Given the description of an element on the screen output the (x, y) to click on. 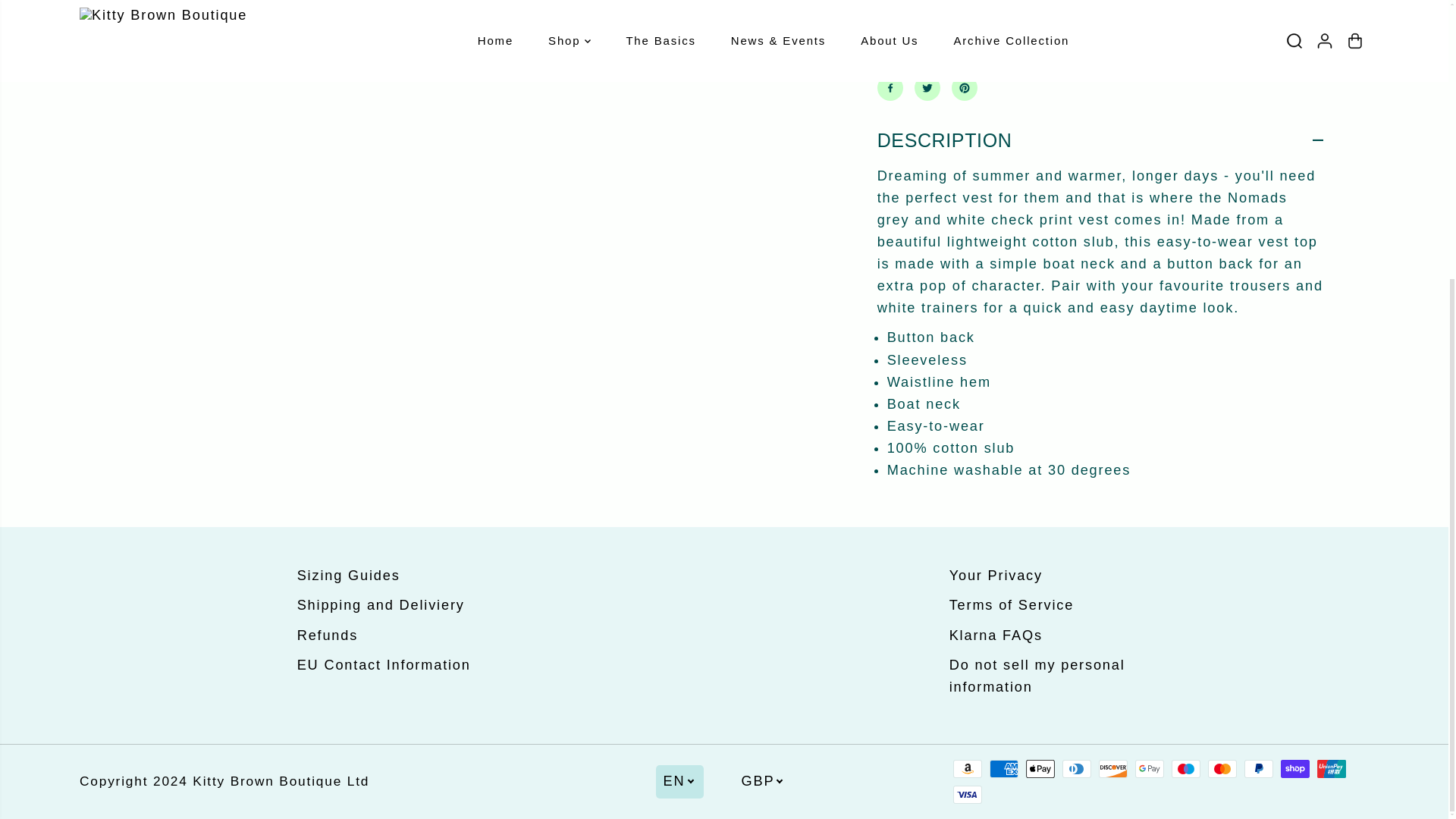
Mastercard (1222, 769)
Shop Pay (1294, 769)
Amazon (967, 769)
Maestro (1185, 769)
Apple Pay (1040, 769)
Diners Club (1076, 769)
Facebook (889, 86)
American Express (1003, 769)
Pinterest (964, 86)
Twitter (927, 86)
Google Pay (1149, 769)
Discover (1112, 769)
PayPal (1258, 769)
